Given the description of an element on the screen output the (x, y) to click on. 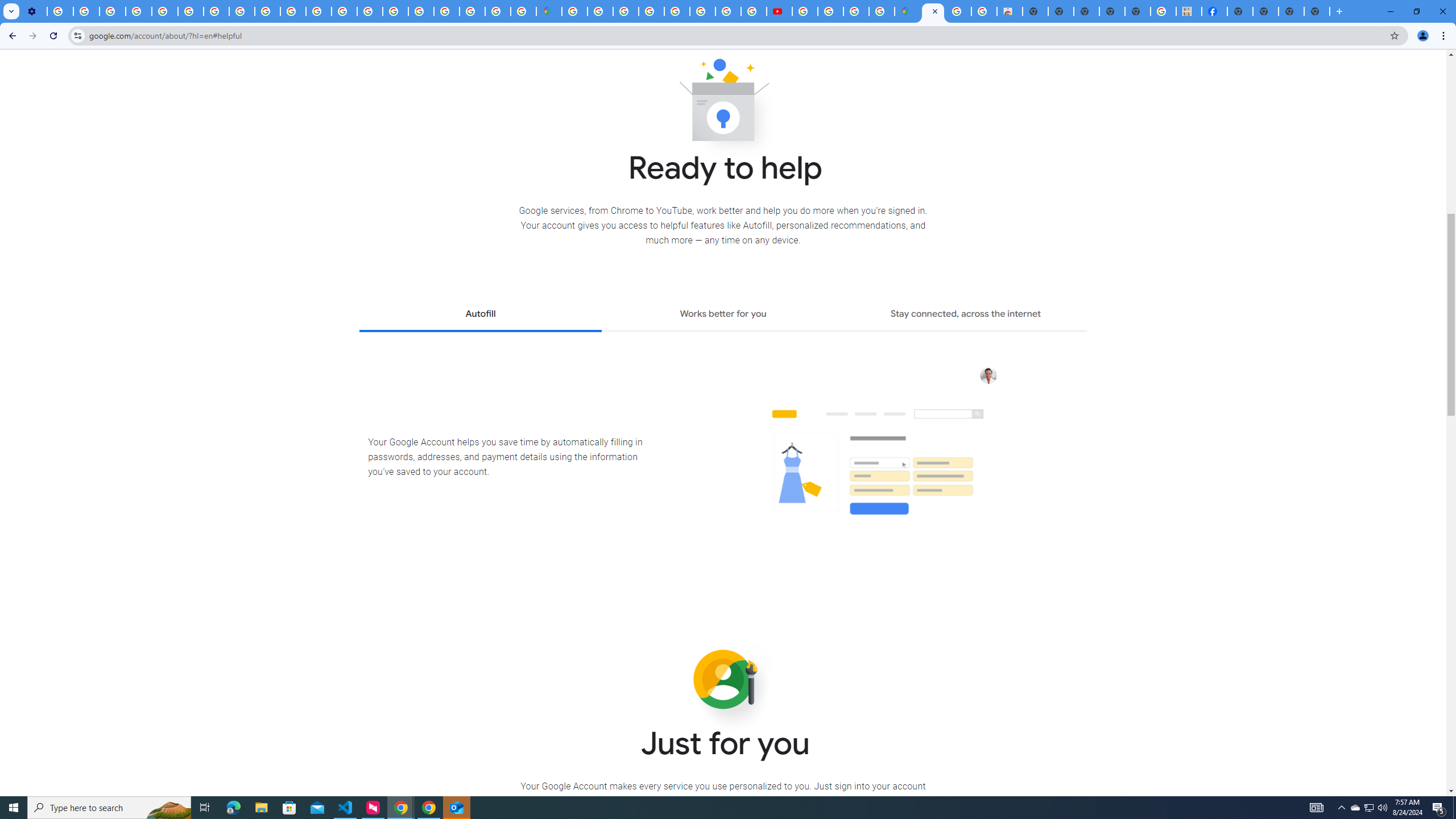
Delete photos & videos - Computer - Google Photos Help (60, 11)
Stay connected, across the internet (965, 315)
New Tab (1316, 11)
Privacy Help Center - Policies Help (727, 11)
https://scholar.google.com/ (318, 11)
